Given the description of an element on the screen output the (x, y) to click on. 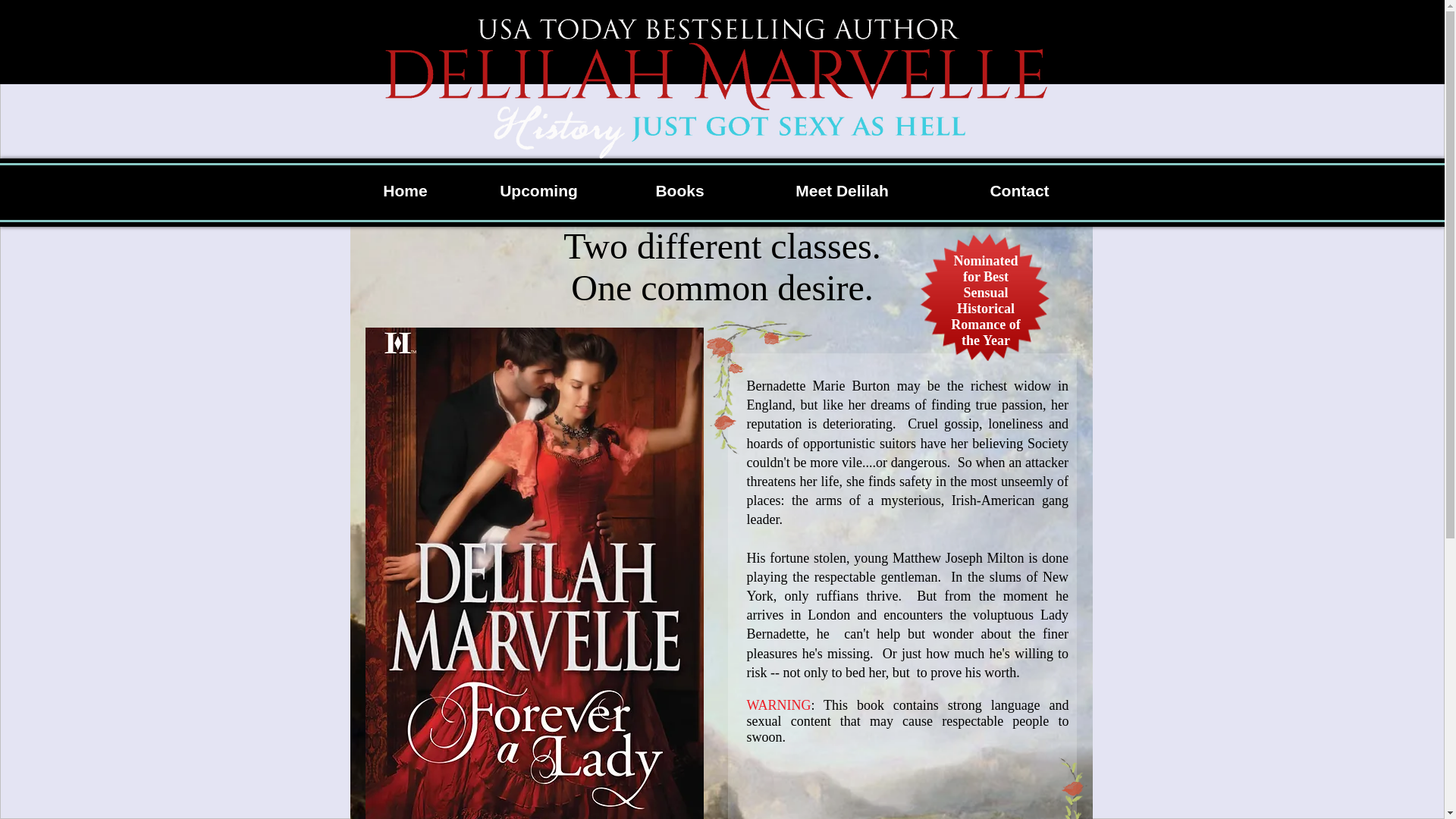
Meet Delilah (841, 190)
Upcoming (538, 190)
Home (405, 190)
Books (679, 190)
Contact (1018, 190)
